Given the description of an element on the screen output the (x, y) to click on. 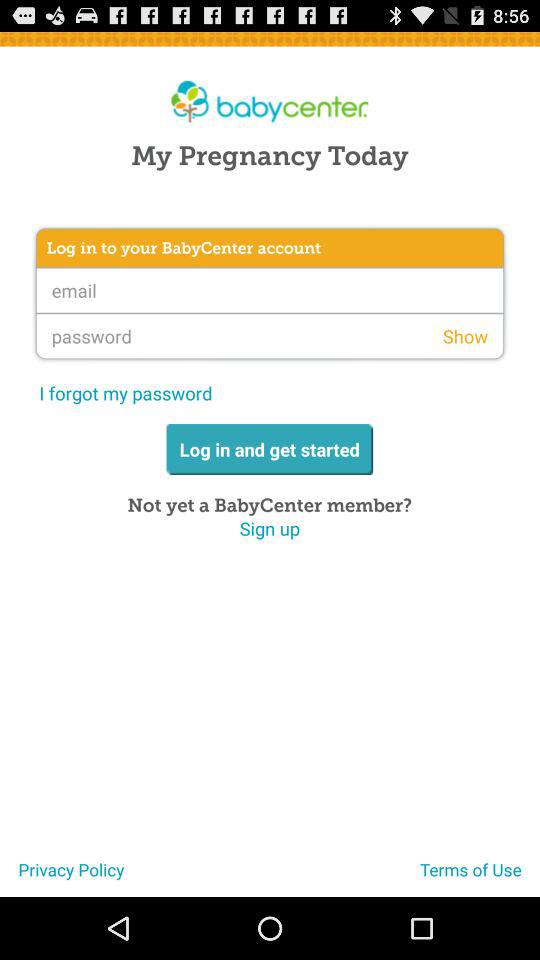
swipe to sign up app (269, 528)
